Given the description of an element on the screen output the (x, y) to click on. 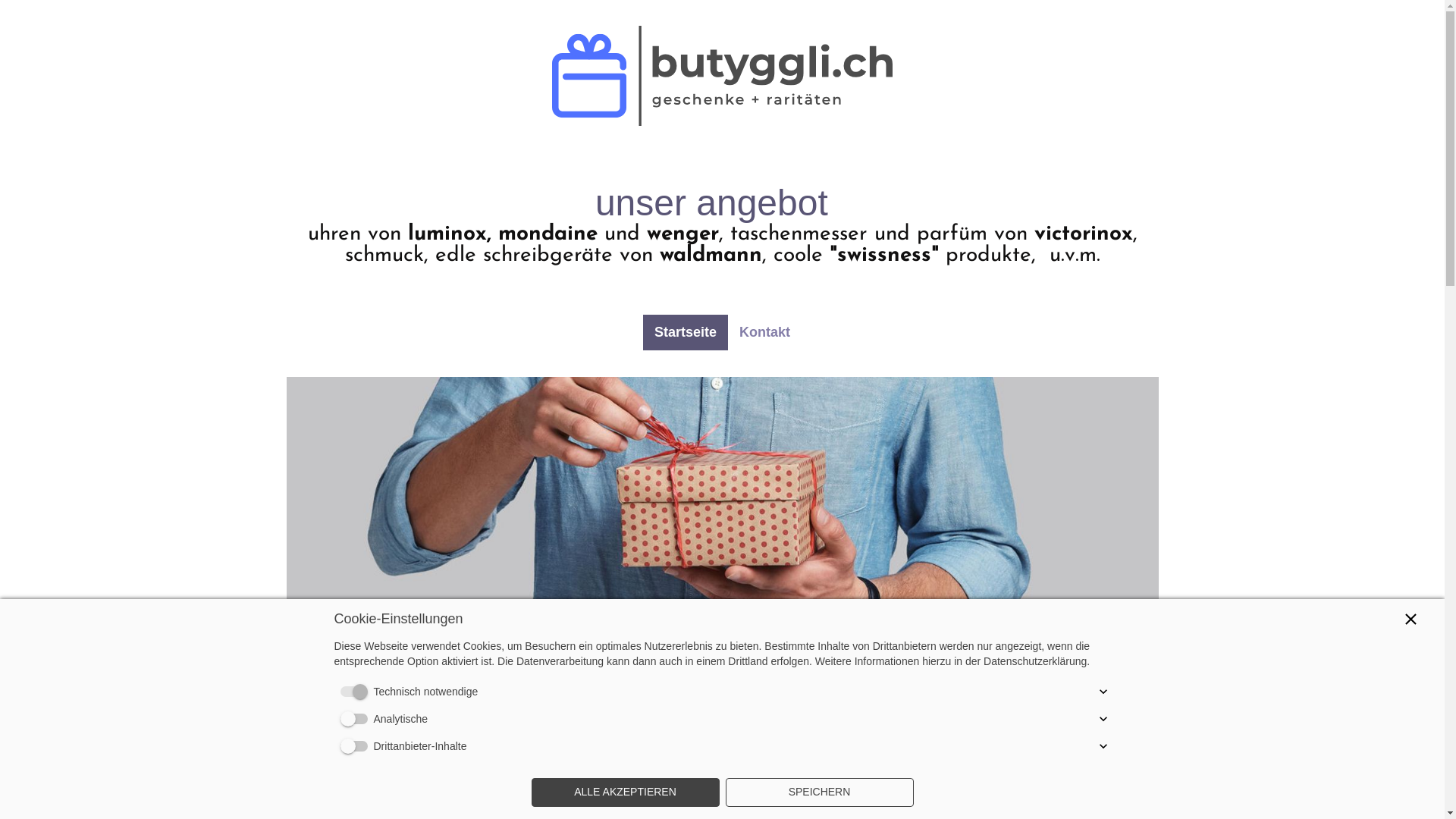
Startseite Element type: text (685, 332)
ALLE AKZEPTIEREN Element type: text (624, 792)
Kontakt Element type: text (764, 332)
SPEICHERN Element type: text (818, 792)
